Given the description of an element on the screen output the (x, y) to click on. 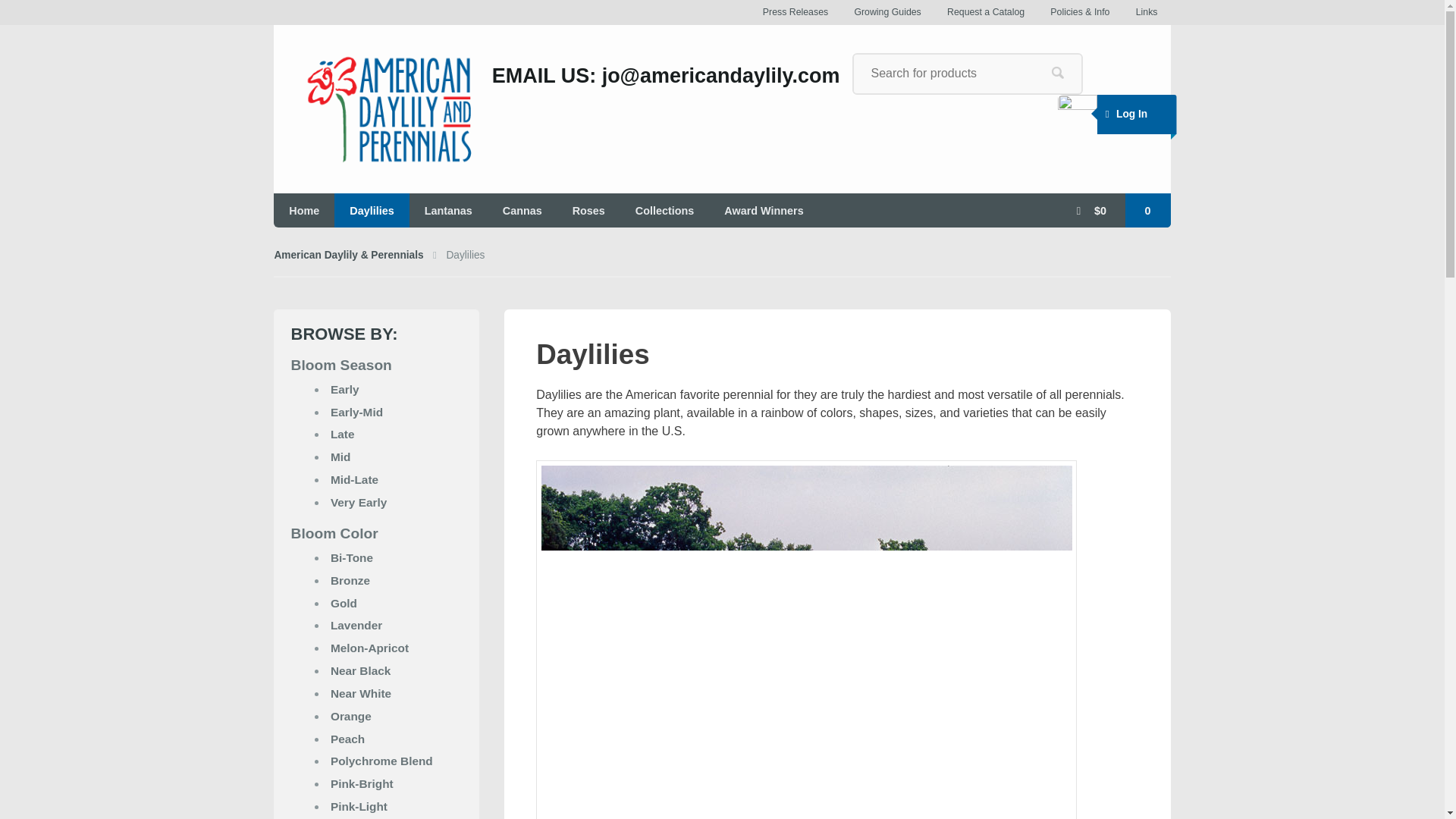
Search (1057, 72)
Log In (1124, 114)
Links (1146, 12)
Press Releases (795, 12)
Search (1057, 72)
Lantanas (448, 210)
Growing Guides (887, 12)
Daylilies (371, 210)
Request a Catalog (985, 12)
View your shopping cart (1115, 210)
Home (303, 210)
Log In (1124, 114)
